Given the description of an element on the screen output the (x, y) to click on. 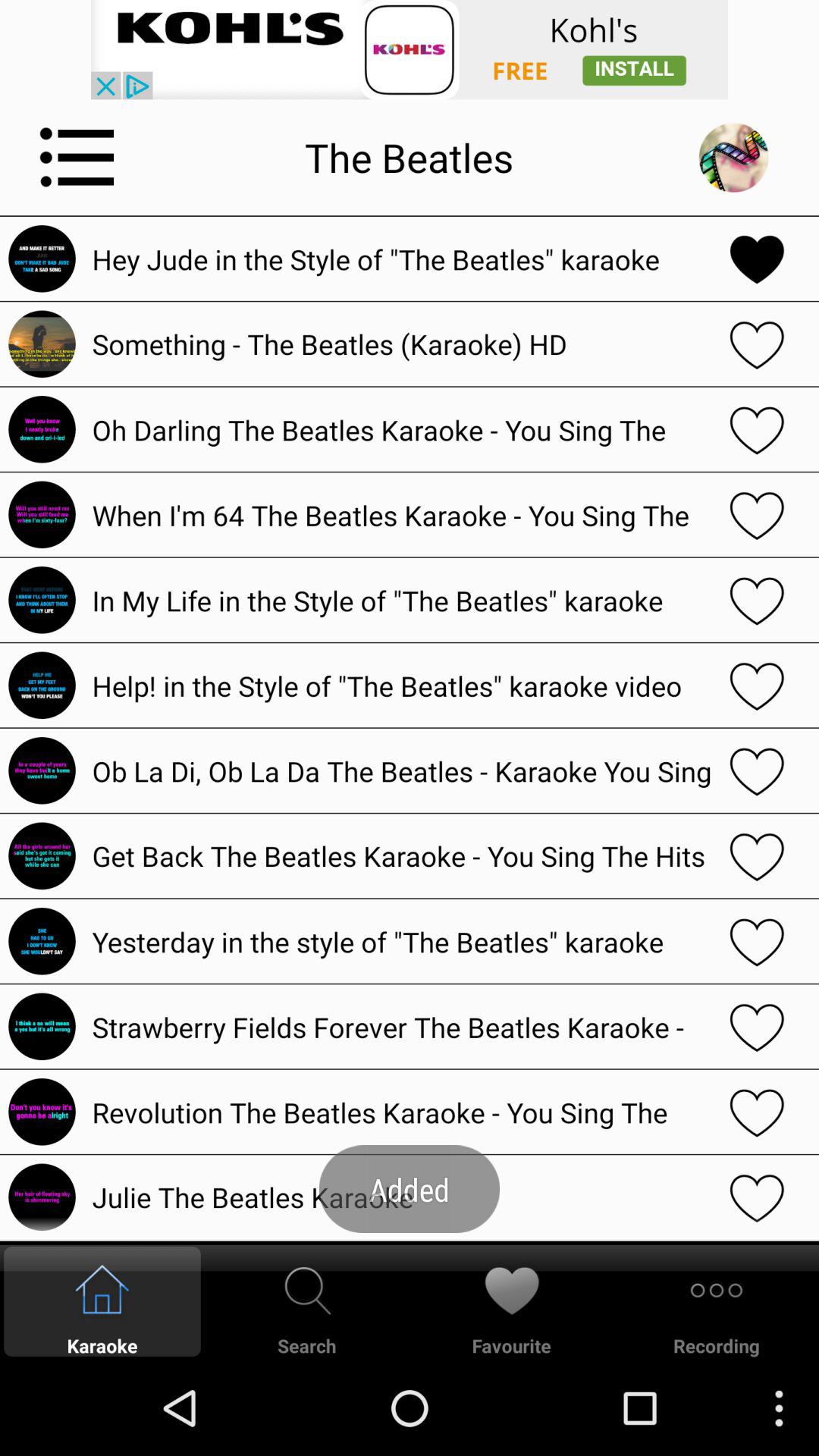
favorite button for help in the style of the beatles karaoke video (756, 685)
